Given the description of an element on the screen output the (x, y) to click on. 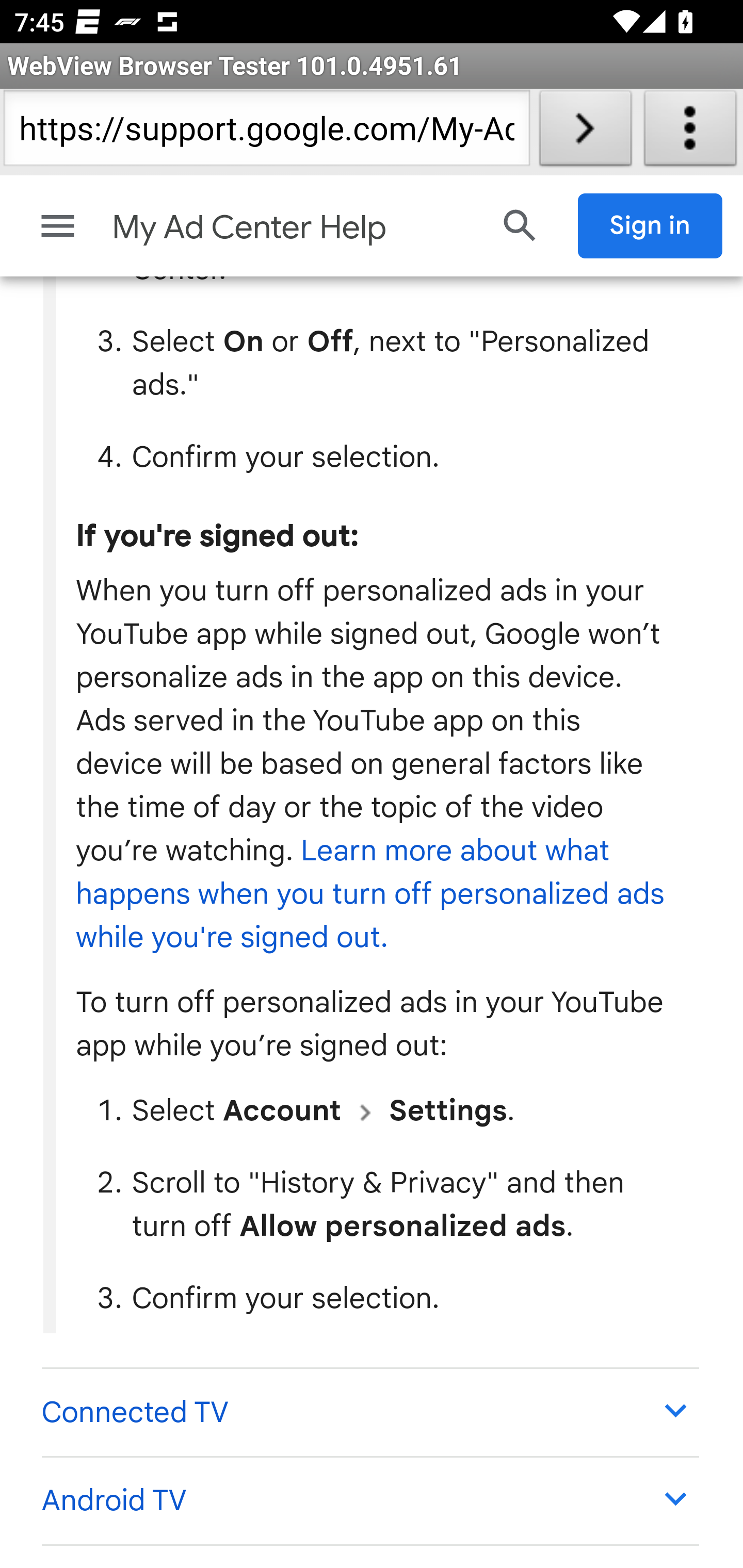
Load URL (585, 132)
About WebView (690, 132)
Main menu (58, 226)
My Ad Center Help (292, 227)
Search Help Center (519, 226)
Sign in (650, 226)
Connected TV (369, 1413)
Android TV (369, 1501)
